Given the description of an element on the screen output the (x, y) to click on. 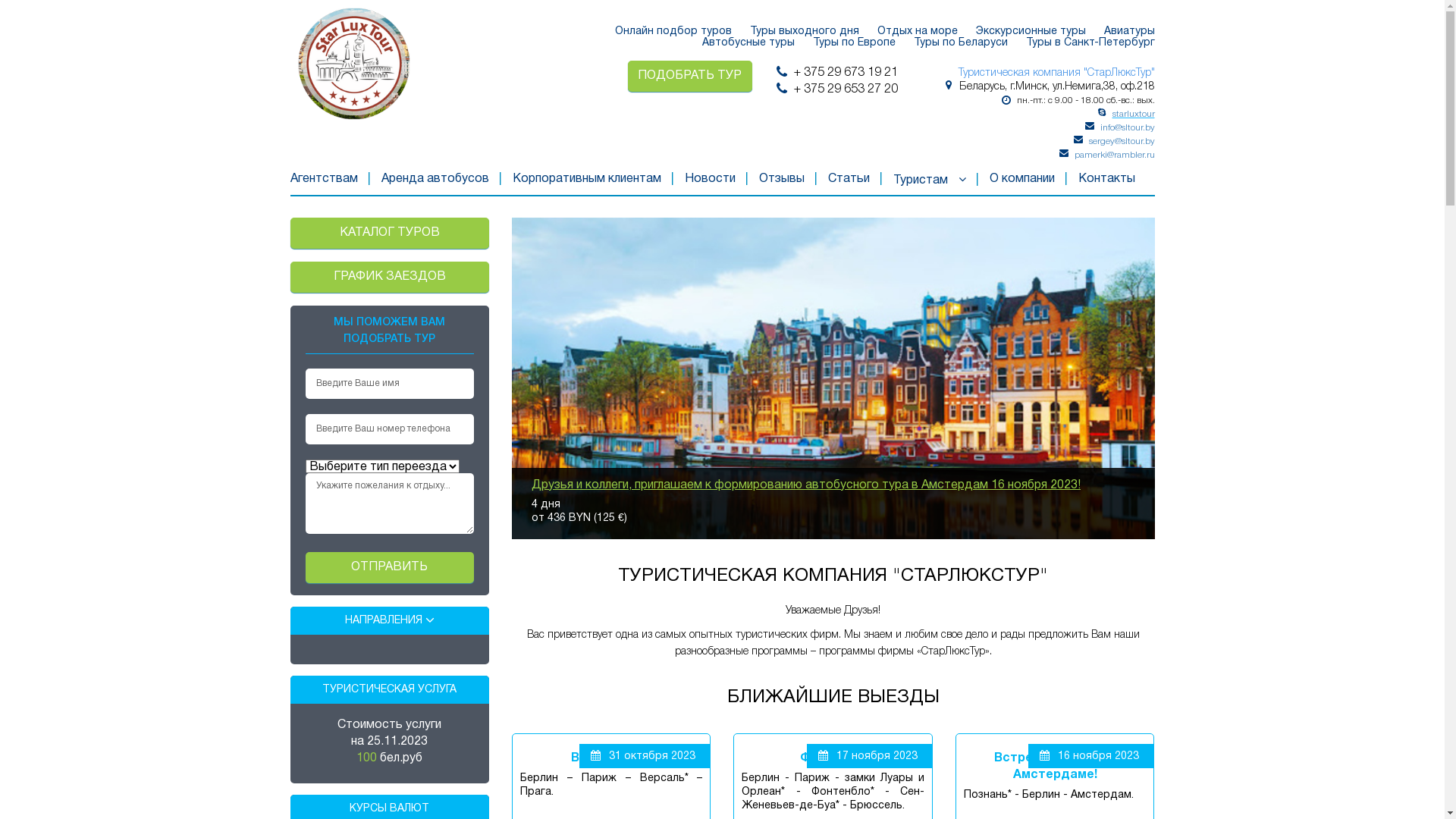
+ 375 29 673 19 21 Element type: text (845, 72)
sergey@sltour.by Element type: text (1121, 141)
+ 375 29 653 27 20 Element type: text (845, 89)
info@sltour.by Element type: text (1126, 127)
pamerki@rambler.ru Element type: text (1113, 154)
starluxtour Element type: text (1132, 113)
